Given the description of an element on the screen output the (x, y) to click on. 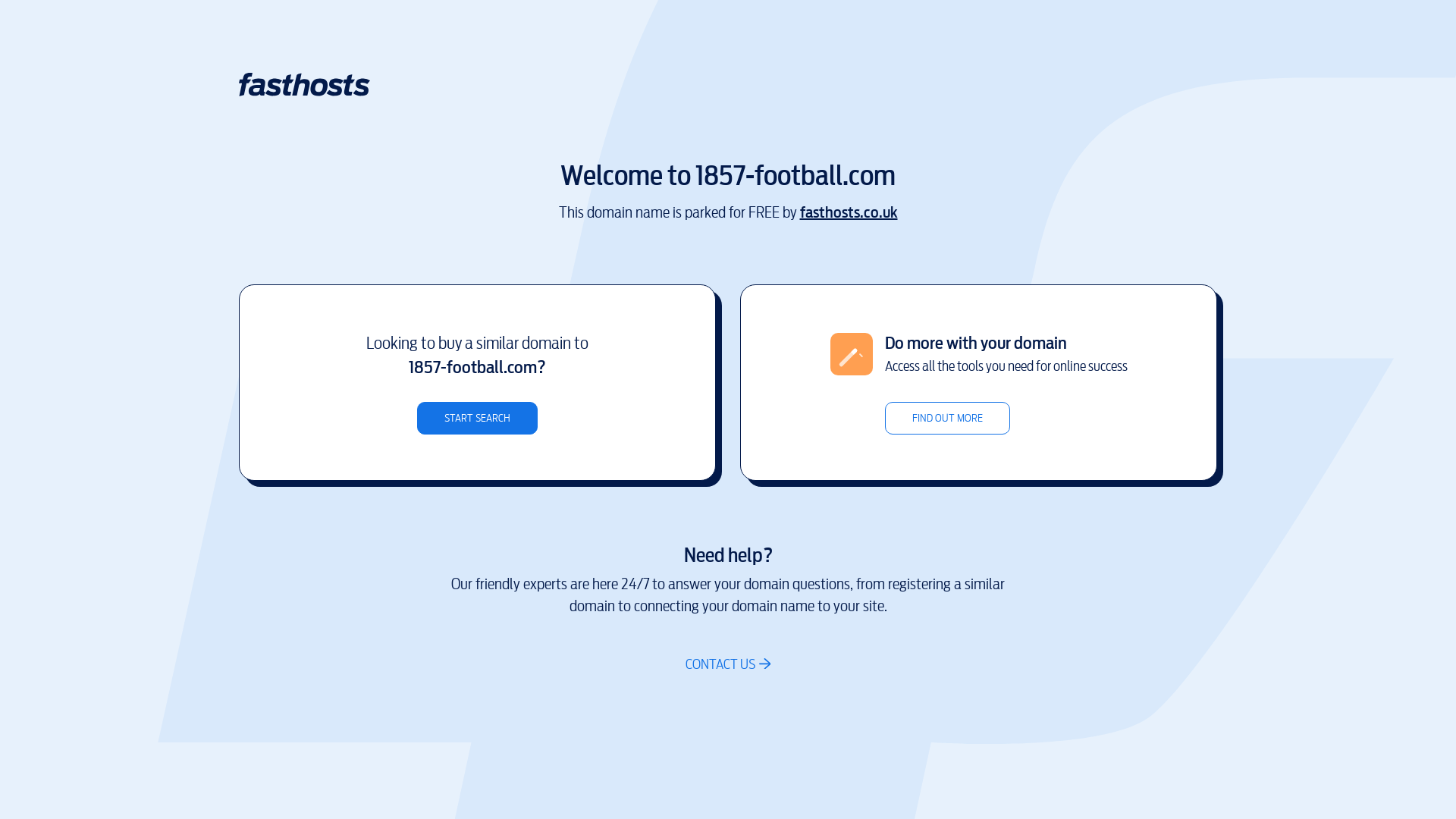
FIND OUT MORE Element type: text (946, 417)
fasthosts.co.uk Element type: text (848, 212)
START SEARCH Element type: text (477, 417)
CONTACT US Element type: text (727, 663)
